Given the description of an element on the screen output the (x, y) to click on. 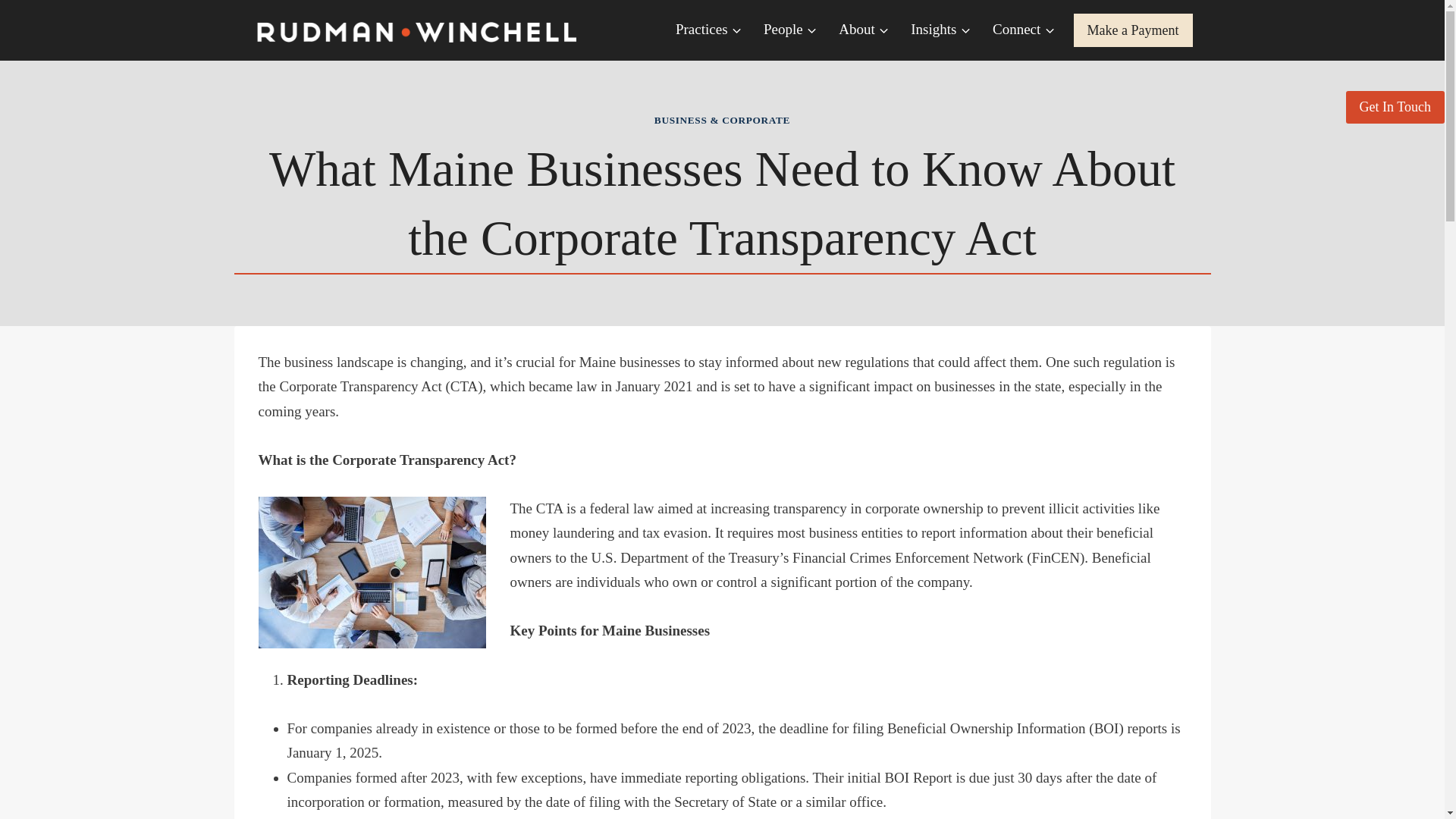
About (863, 29)
Connect (1023, 29)
Practices (708, 29)
Insights (940, 29)
People (790, 29)
Make a Payment (1133, 29)
